Given the description of an element on the screen output the (x, y) to click on. 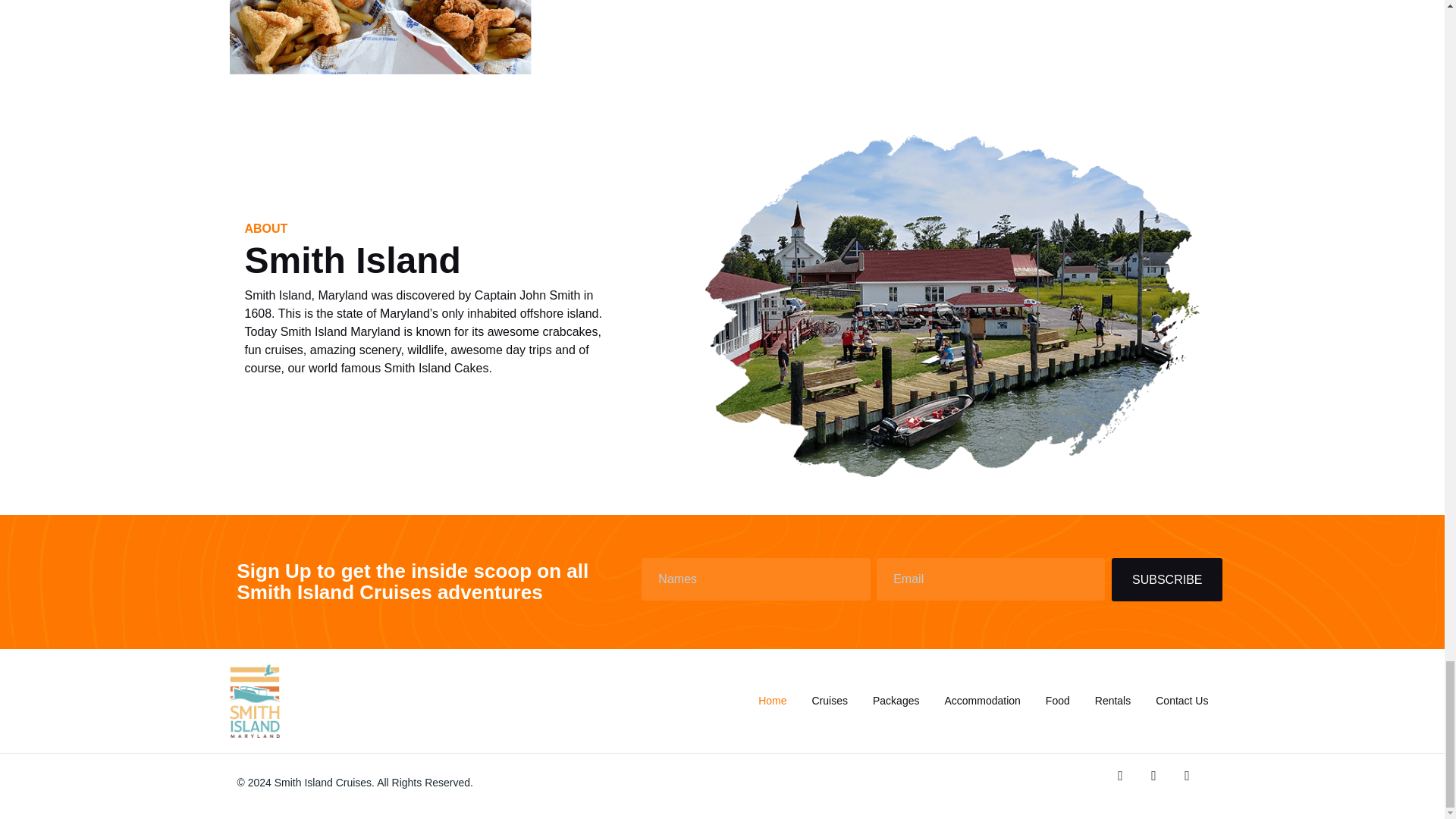
Cruises (829, 700)
Accommodation (981, 700)
Home (772, 700)
Contact Us (1181, 700)
Rentals (1112, 700)
Food (1058, 700)
SUBSCRIBE (1167, 579)
Packages (896, 700)
